Given the description of an element on the screen output the (x, y) to click on. 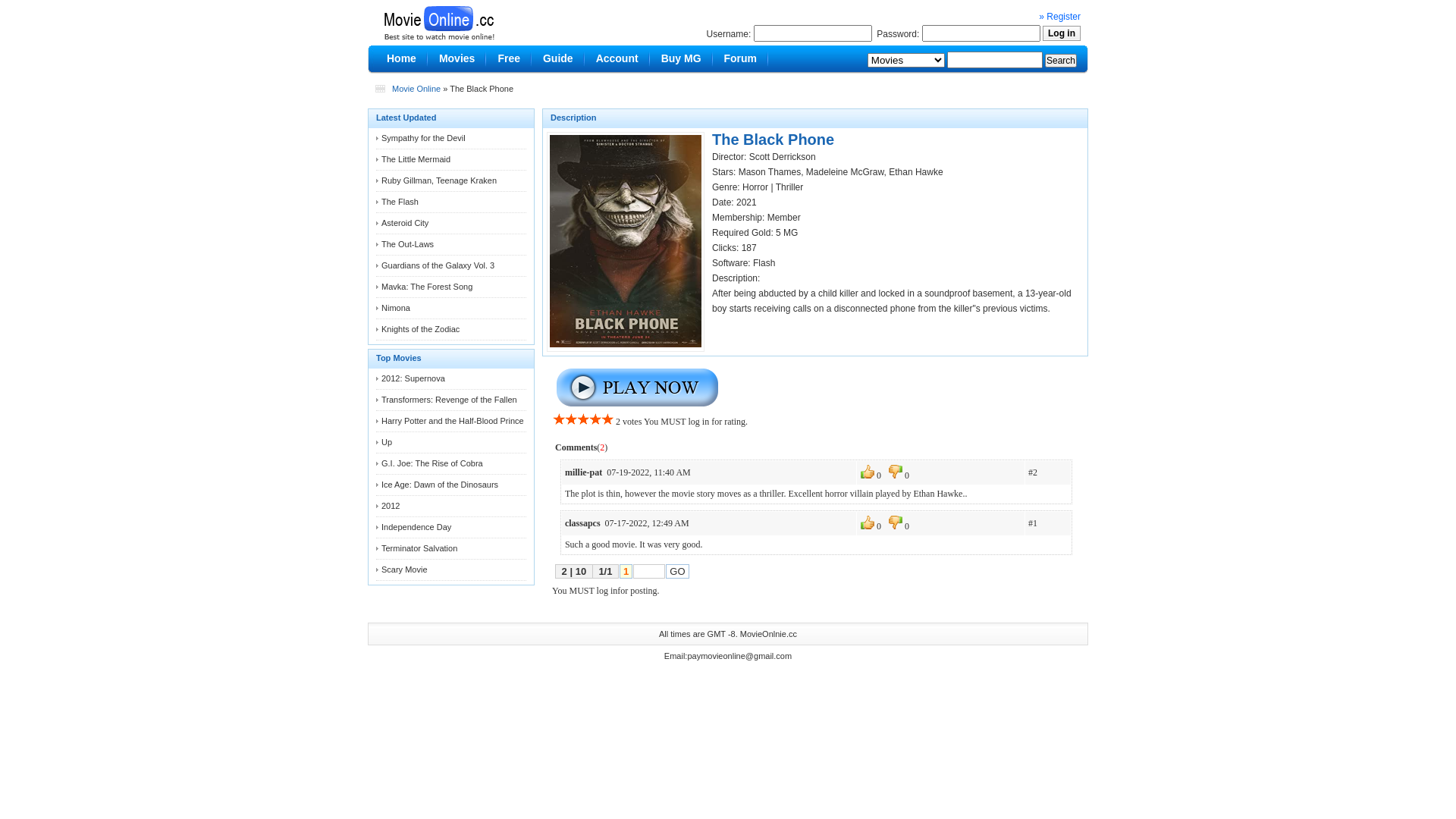
2012 Element type: text (390, 505)
Account Element type: text (617, 58)
The Flash Element type: text (399, 201)
Home Element type: text (401, 58)
Movie Online Element type: text (416, 88)
Up Element type: text (386, 441)
Free Element type: text (508, 58)
Knights of the Zodiac Element type: text (420, 328)
Search Element type: text (1060, 60)
Movies Element type: text (456, 58)
Forum Element type: text (740, 58)
Asteroid City Element type: text (404, 222)
Ice Age: Dawn of the Dinosaurs Element type: text (439, 484)
The Little Mermaid Element type: text (415, 158)
Thriller Element type: text (789, 187)
Independence Day Element type: text (416, 526)
Buy MG Element type: text (681, 58)
Horror Element type: text (755, 187)
Scary Movie Element type: text (404, 569)
Harry Potter and the Half-Blood Prince Element type: text (452, 420)
Log in Element type: text (1061, 32)
Terminator Salvation Element type: text (419, 547)
Sympathy for the Devil Element type: text (423, 137)
Ruby Gillman, Teenage Kraken Element type: text (438, 180)
2012: Supernova Element type: text (413, 377)
Nimona Element type: text (395, 307)
G.I. Joe: The Rise of Cobra Element type: text (432, 462)
The Out-Laws Element type: text (407, 243)
Guardians of the Galaxy Vol. 3 Element type: text (437, 264)
The Black Phone,Movie Online Element type: hover (438, 20)
Transformers: Revenge of the Fallen Element type: text (449, 399)
Mavka: The Forest Song Element type: text (426, 286)
Guide Element type: text (557, 58)
